Given the description of an element on the screen output the (x, y) to click on. 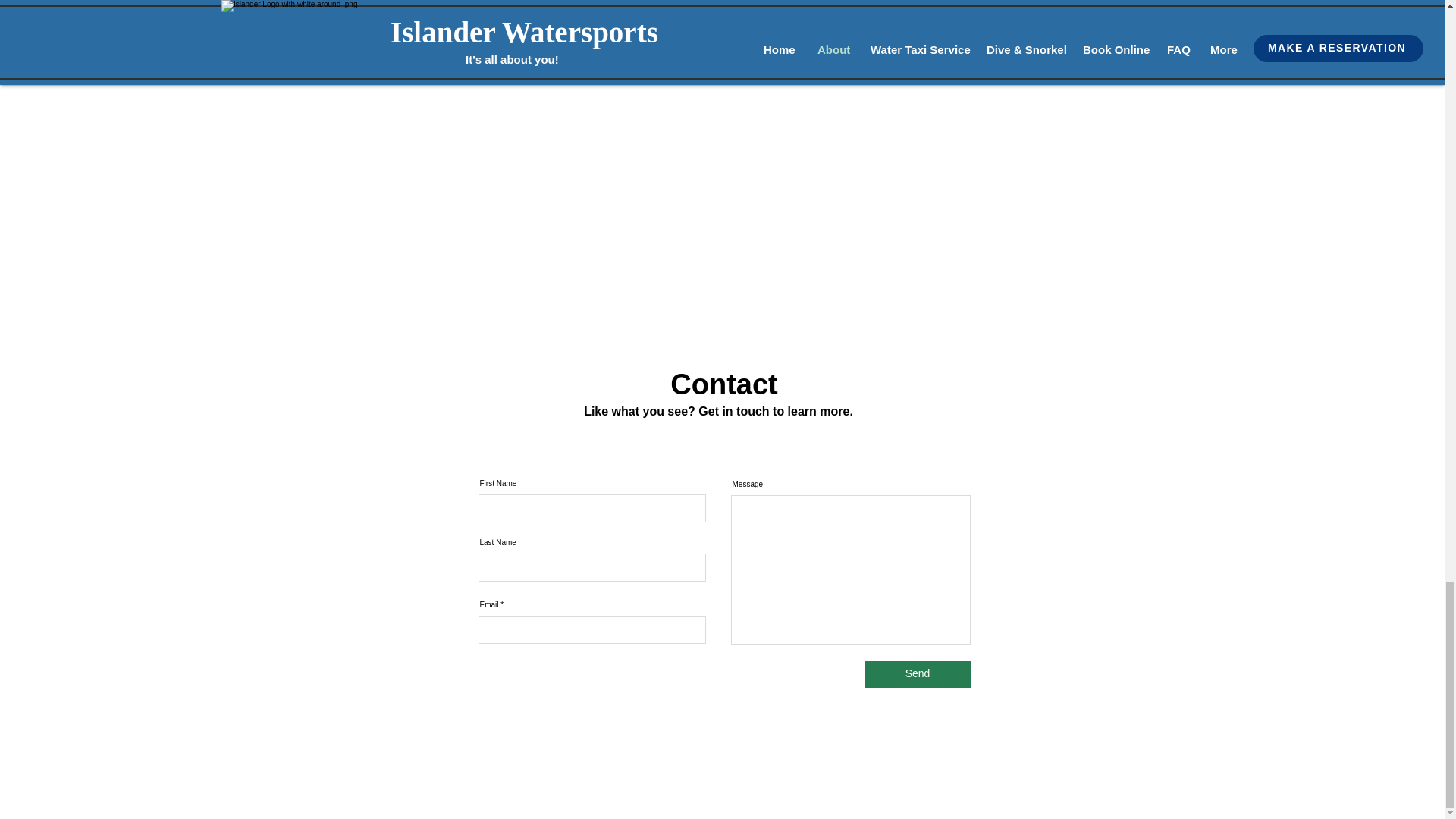
Send (916, 673)
